Given the description of an element on the screen output the (x, y) to click on. 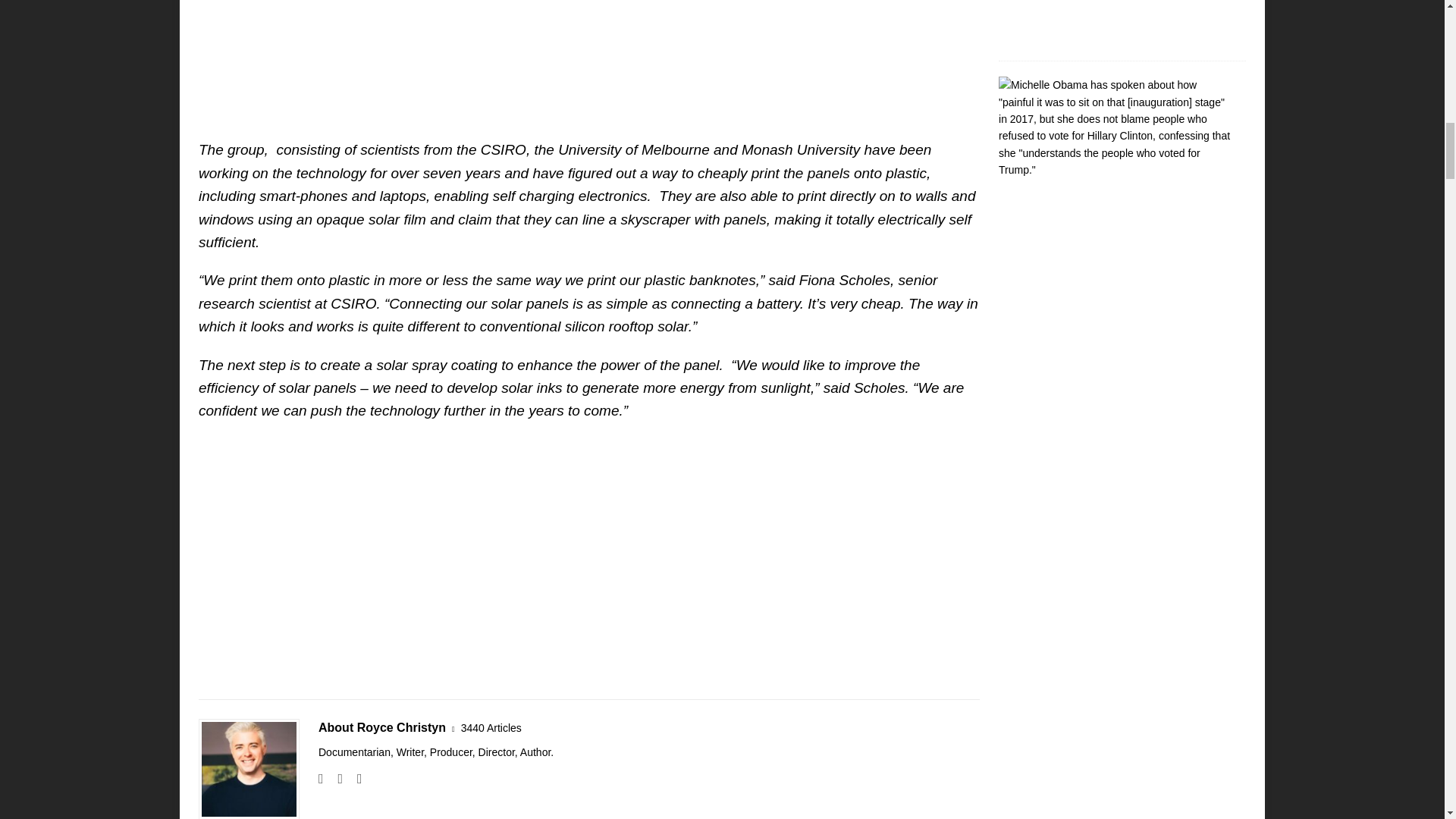
Follow Royce Christyn on Instagram (334, 778)
Follow Royce Christyn on Twitter (354, 778)
More articles written by Royce Christyn' (491, 728)
